Given the description of an element on the screen output the (x, y) to click on. 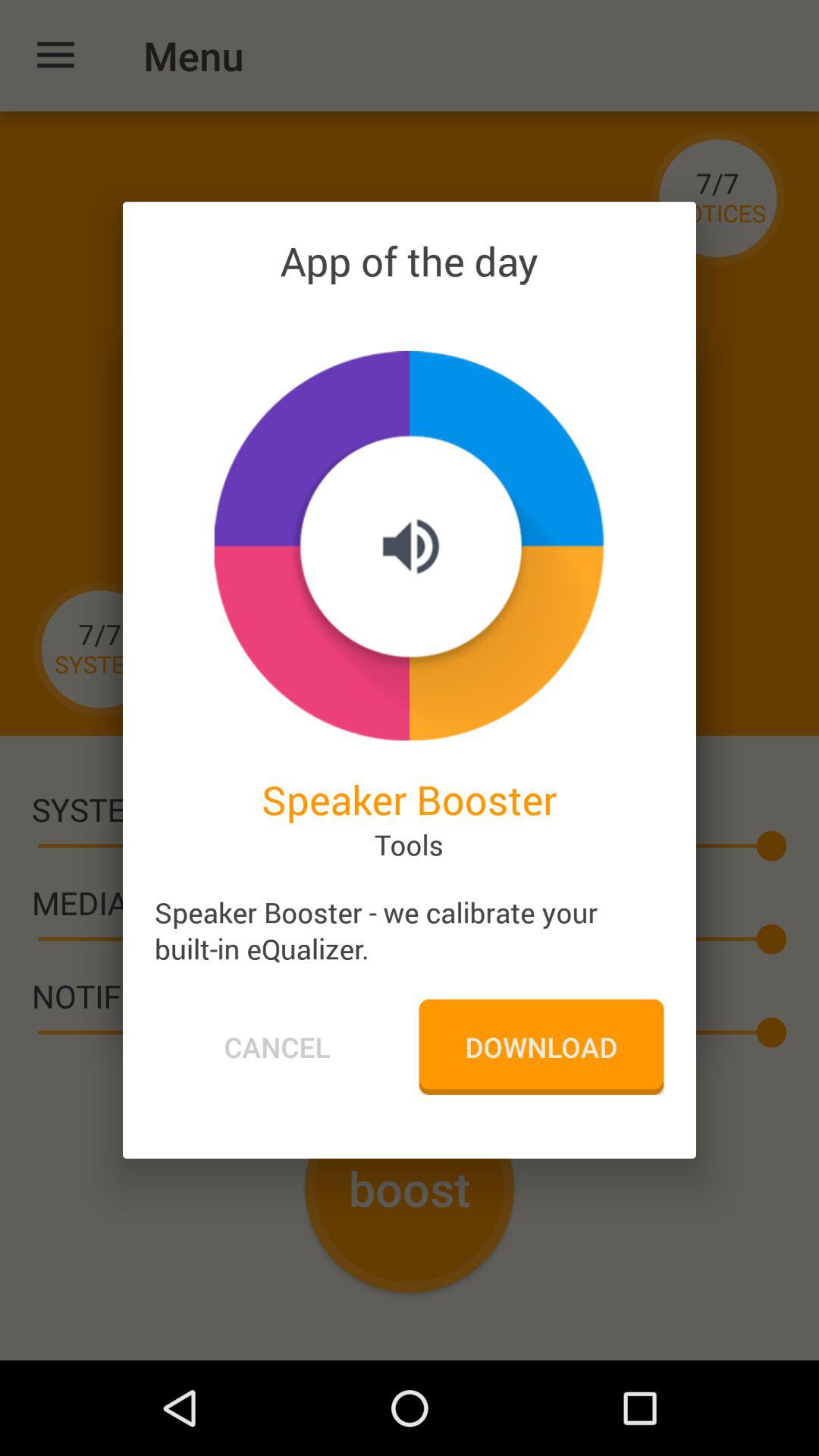
launch the icon below the app of the (408, 545)
